Given the description of an element on the screen output the (x, y) to click on. 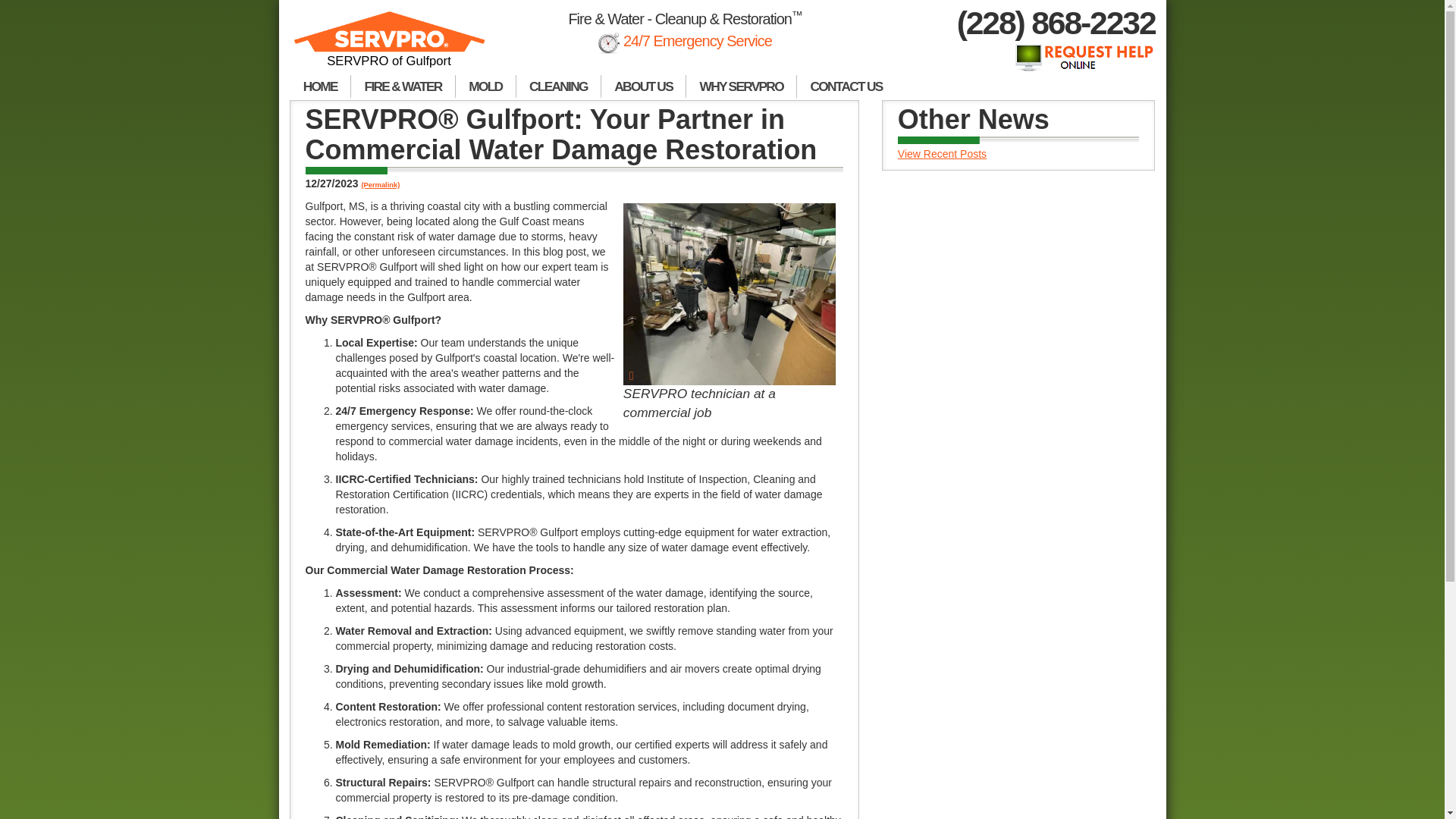
MOLD (485, 87)
CLEANING (558, 87)
WHY SERVPRO (740, 87)
HOME (319, 87)
ABOUT US (643, 87)
SERVPRO of Gulfport (389, 45)
